Given the description of an element on the screen output the (x, y) to click on. 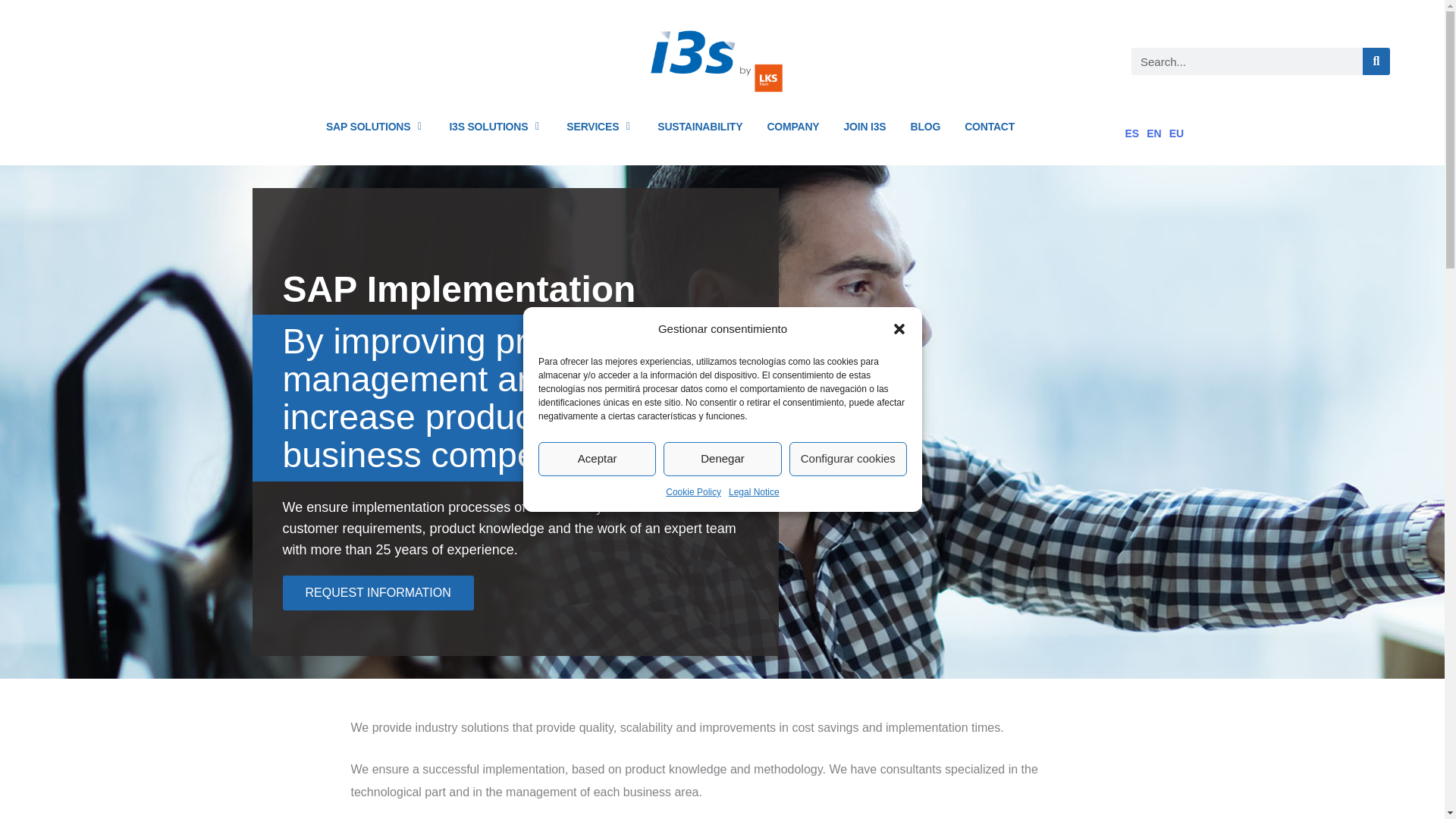
JOIN I3S (864, 126)
Search (1376, 61)
Legal Notice (753, 492)
Aceptar (597, 458)
Denegar (721, 458)
SUSTAINABILITY (700, 126)
COMPANY (792, 126)
CONTACT (988, 126)
Configurar cookies (847, 458)
BLOG (925, 126)
Cookie Policy (692, 492)
